Given the description of an element on the screen output the (x, y) to click on. 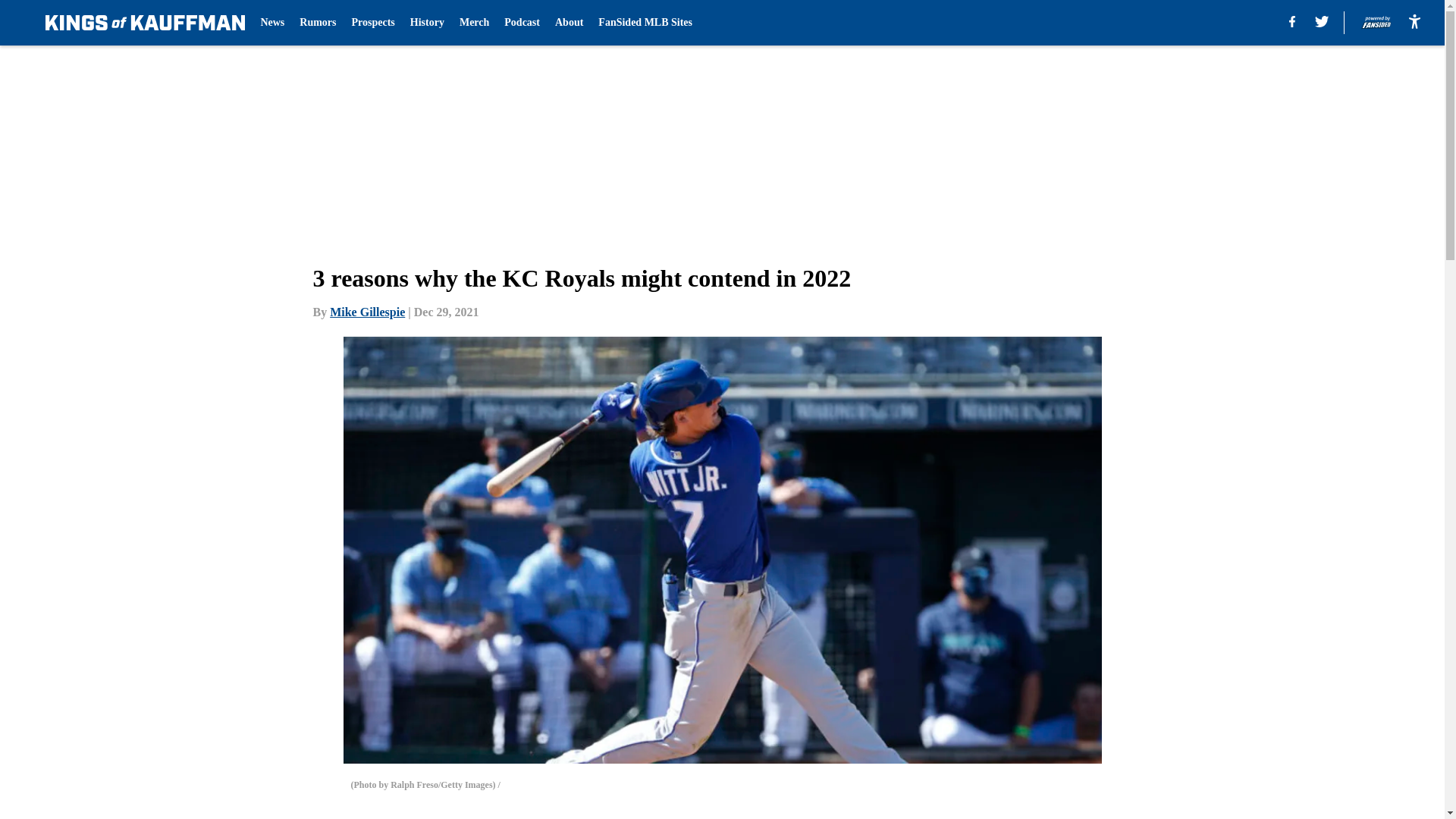
News (271, 22)
Prospects (373, 22)
History (427, 22)
Mike Gillespie (367, 311)
Rumors (317, 22)
Podcast (521, 22)
About (568, 22)
FanSided MLB Sites (645, 22)
Merch (474, 22)
